Given the description of an element on the screen output the (x, y) to click on. 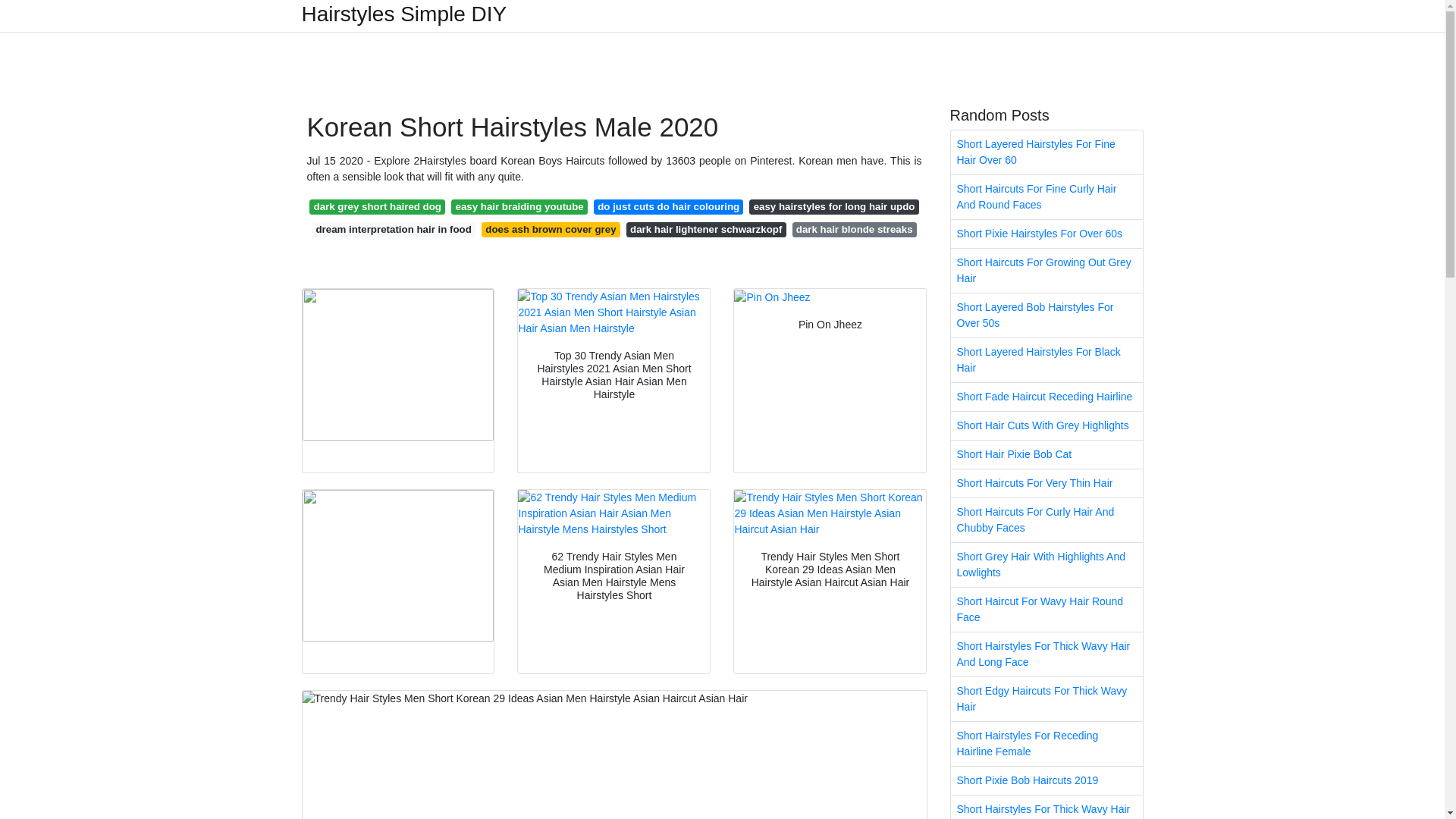
dream interpretation hair in food (393, 229)
do just cuts do hair colouring (669, 206)
Short Hair Cuts With Grey Highlights (1046, 425)
dark grey short haired dog (376, 206)
Hairstyles Simple DIY (403, 13)
Short Haircuts For Fine Curly Hair And Round Faces (1046, 197)
Short Hair Pixie Bob Cat (1046, 454)
Short Pixie Hairstyles For Over 60s (1046, 234)
Short Layered Hairstyles For Black Hair (1046, 360)
easy hair braiding youtube (519, 206)
